Given the description of an element on the screen output the (x, y) to click on. 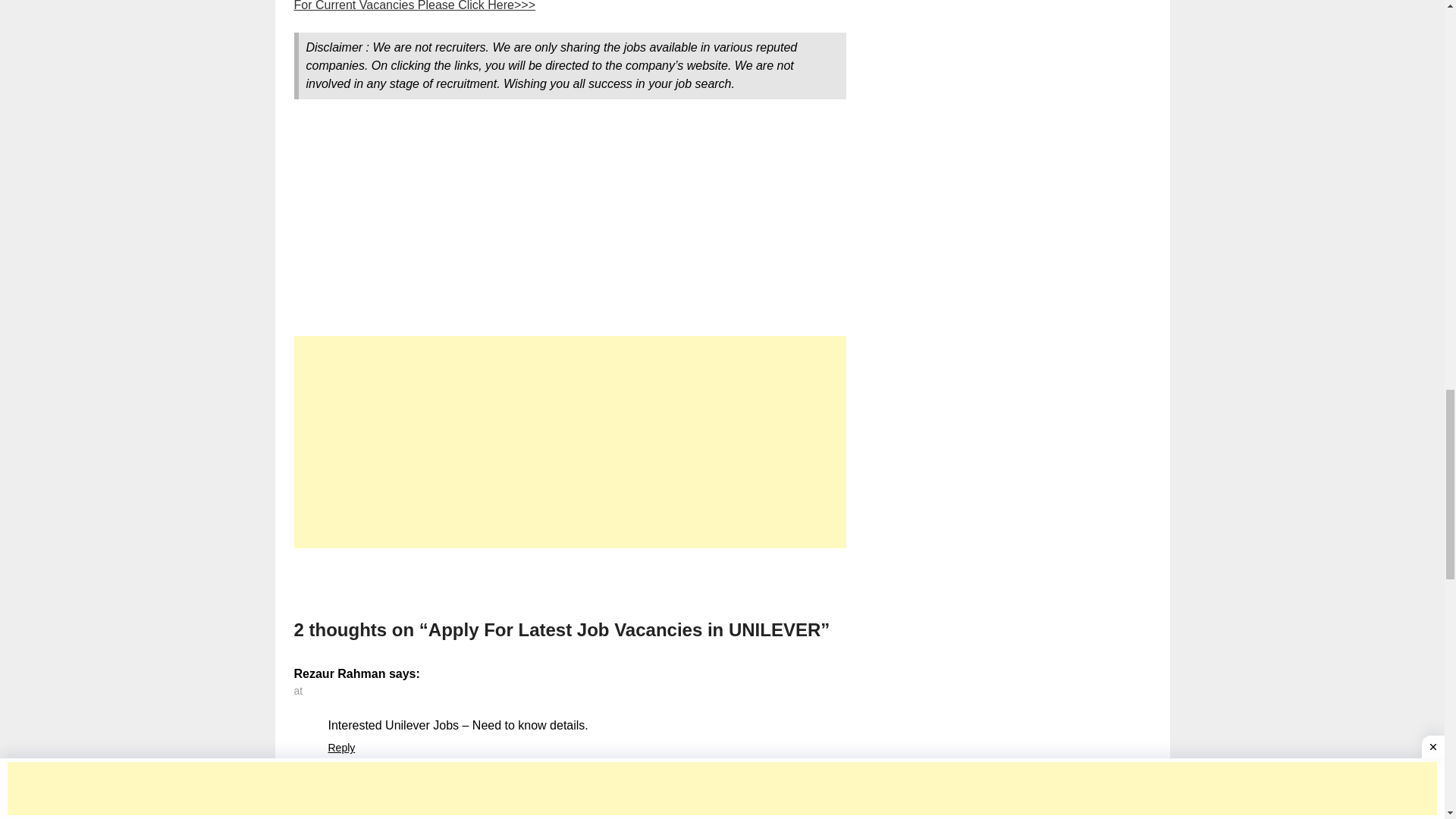
Reply (341, 747)
Advertisement (570, 223)
Advertisement (570, 441)
